Given the description of an element on the screen output the (x, y) to click on. 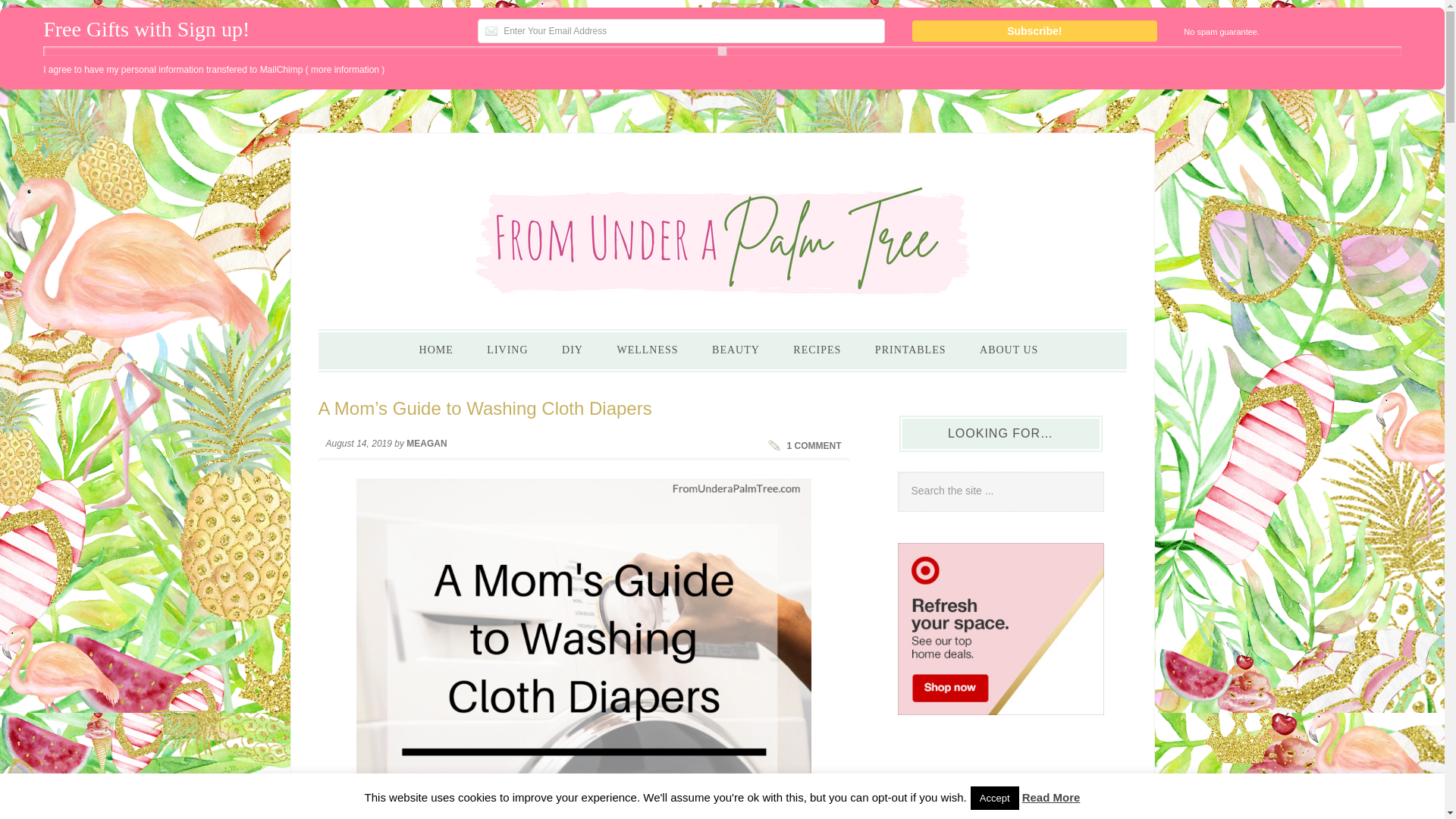
Subscribe! (1034, 30)
From Under a Palm Tree (722, 236)
ABOUT US (1007, 350)
WELLNESS (647, 350)
DIY (572, 350)
Subscribe! (1034, 30)
HOME (436, 350)
RECIPES (816, 350)
more information (344, 69)
PRINTABLES (910, 350)
LIVING (507, 350)
BEAUTY (735, 350)
